Given the description of an element on the screen output the (x, y) to click on. 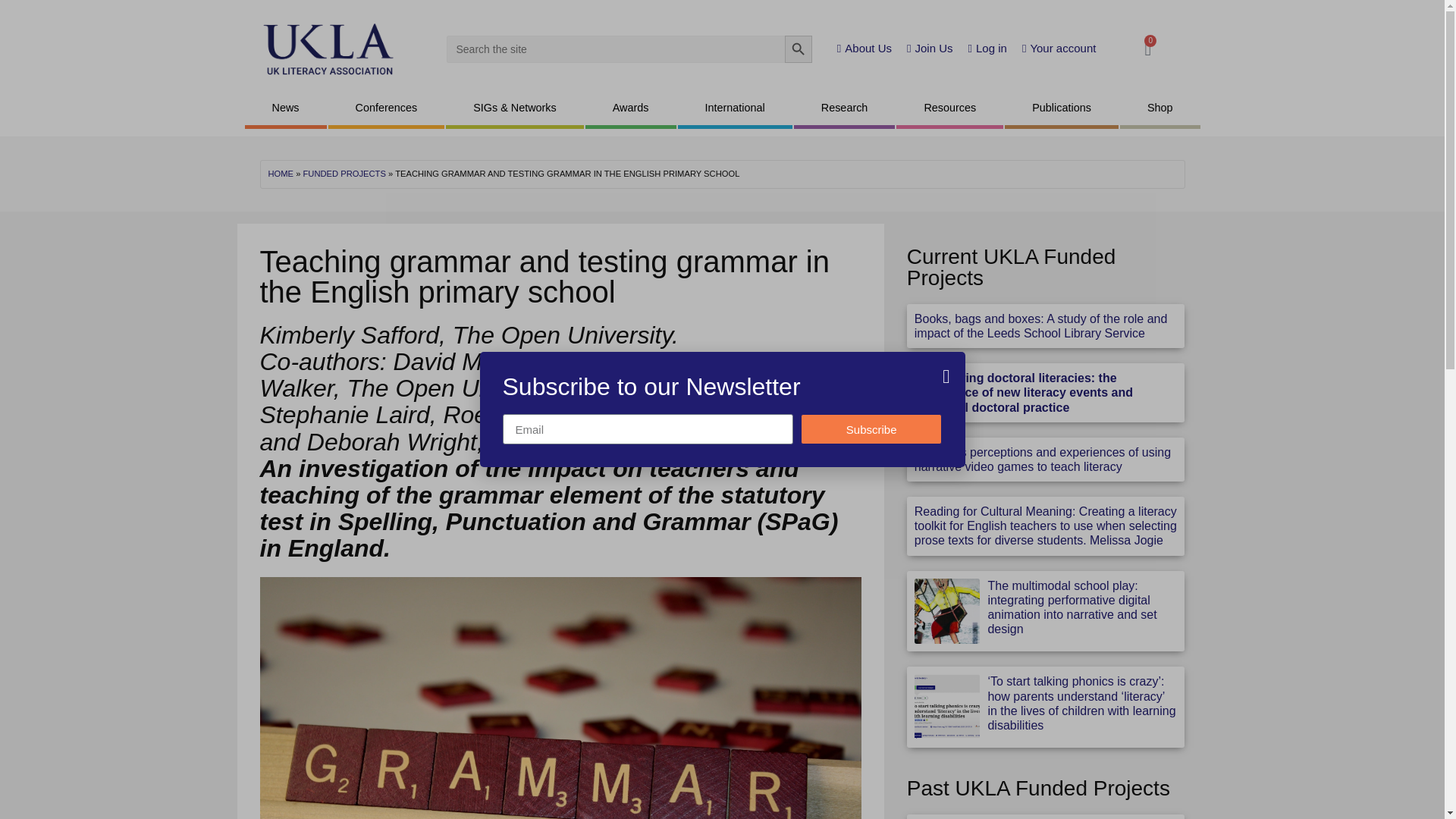
Publications (1061, 109)
Join Us (930, 48)
FUNDED PROJECTS (343, 173)
Log in (987, 48)
Your account (1059, 48)
International (735, 109)
Resources (949, 109)
Awards (631, 109)
HOME (280, 173)
Shop (1159, 109)
Conferences (387, 109)
Search Button (797, 49)
